Given the description of an element on the screen output the (x, y) to click on. 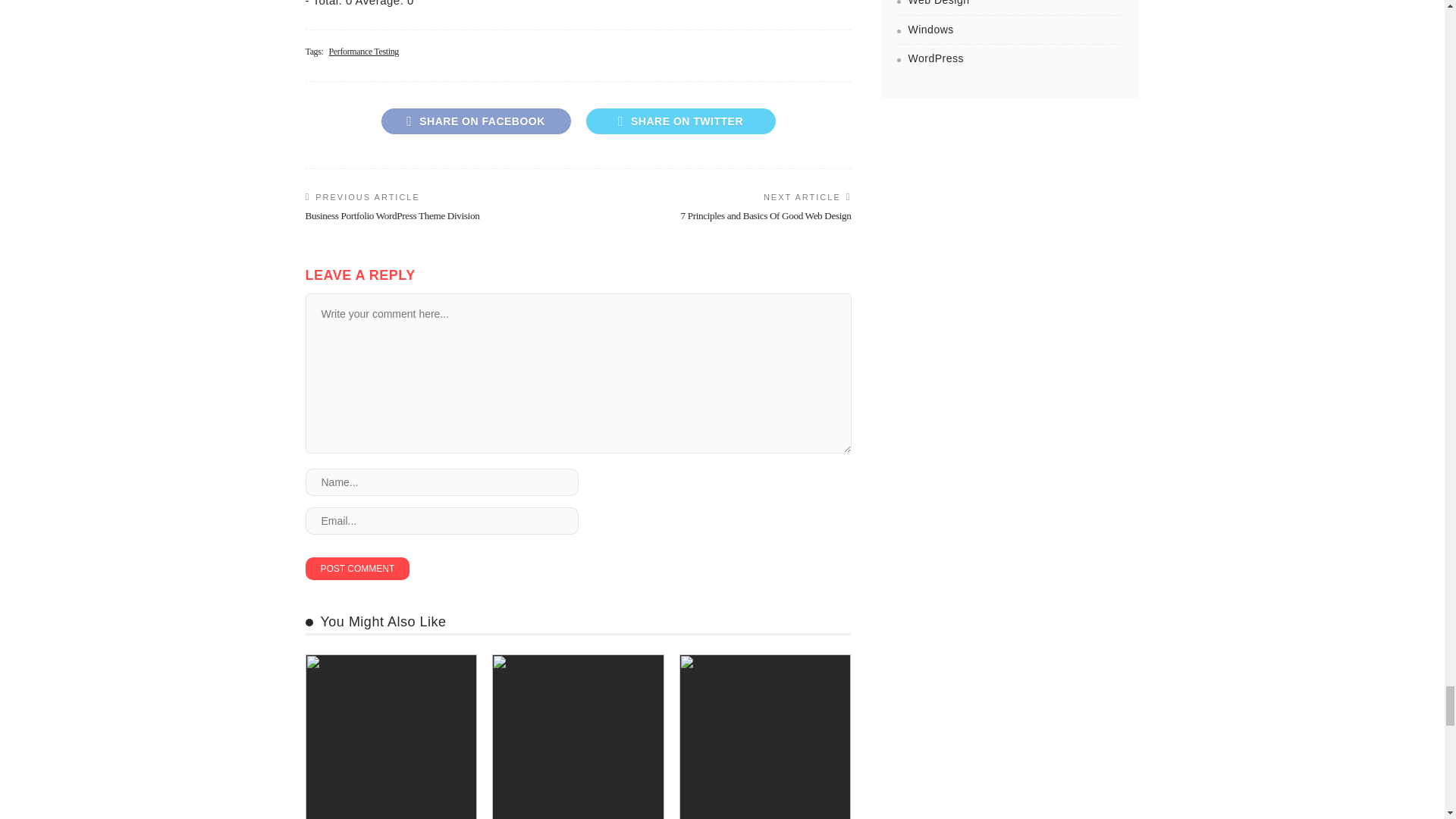
5 VPN Softwares to hide your IP Address (390, 736)
Post Comment (356, 568)
Performance Testing (363, 51)
Business Portfolio WordPress Theme Division (391, 215)
7 Principles and Basics Of Good Web Design (766, 215)
How to Download Audio from Website? (577, 736)
